Given the description of an element on the screen output the (x, y) to click on. 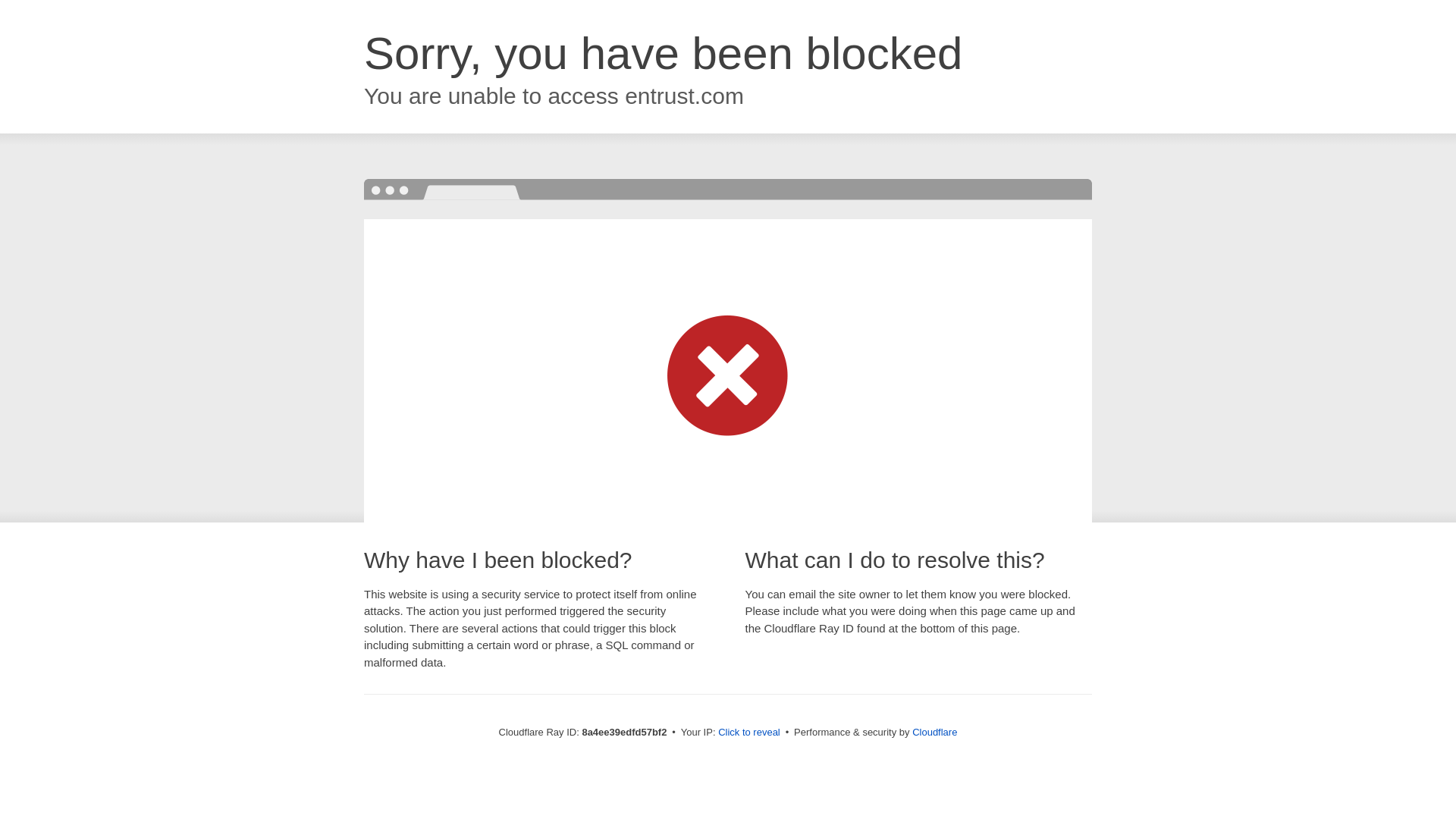
Click to reveal (748, 732)
Cloudflare (934, 731)
